Given the description of an element on the screen output the (x, y) to click on. 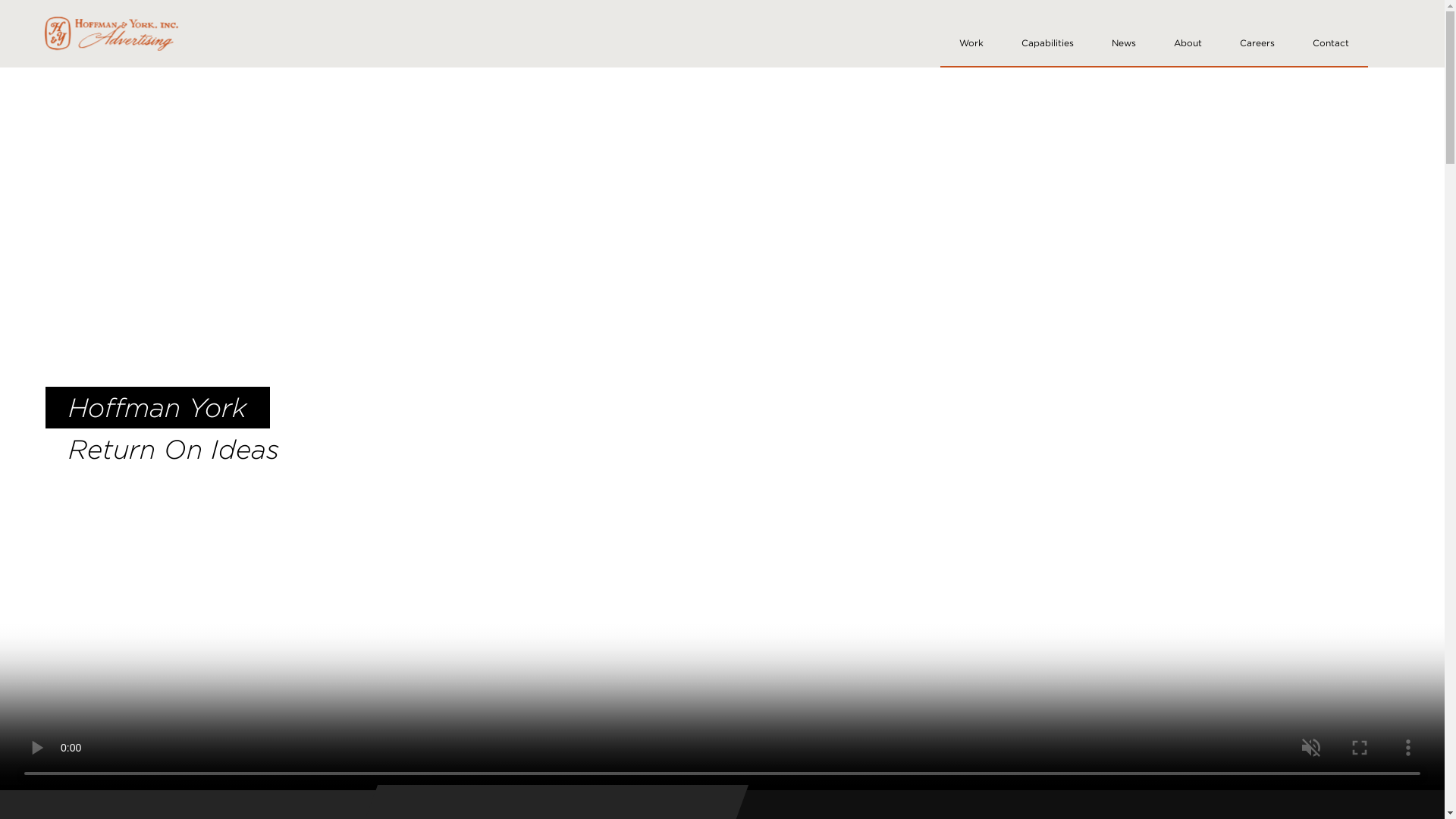
PEOPLE (909, 801)
Contact (1331, 32)
News (1123, 32)
Careers (1257, 33)
HY Home (111, 33)
CULTURE (518, 801)
